Given the description of an element on the screen output the (x, y) to click on. 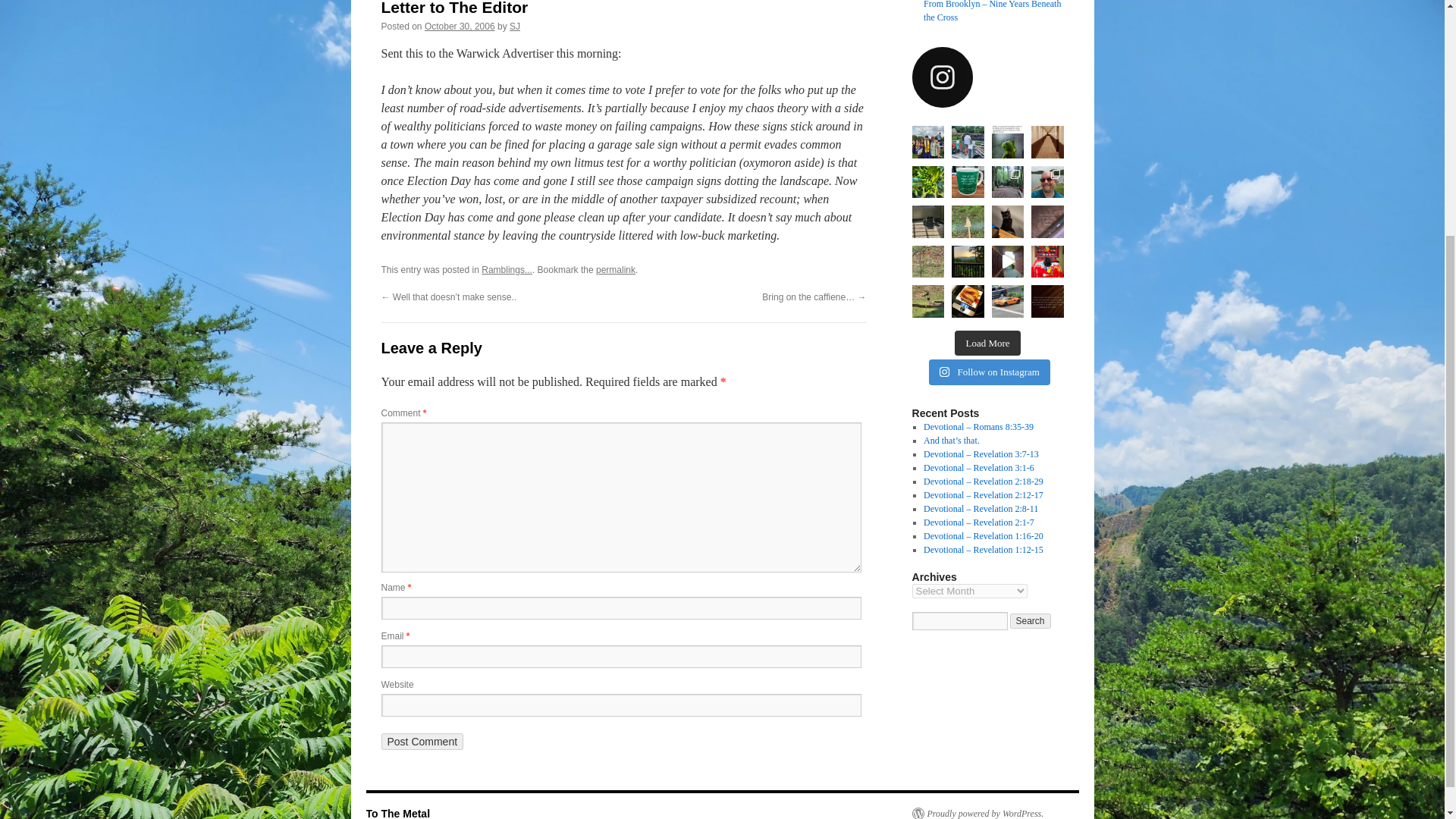
View all posts by SJ (514, 26)
7:59 am (460, 26)
Permalink to Letter to The Editor (614, 269)
Ramblings... (506, 269)
permalink (614, 269)
Search (1030, 620)
SJ (514, 26)
Post Comment (421, 741)
Post Comment (421, 741)
October 30, 2006 (460, 26)
